Given the description of an element on the screen output the (x, y) to click on. 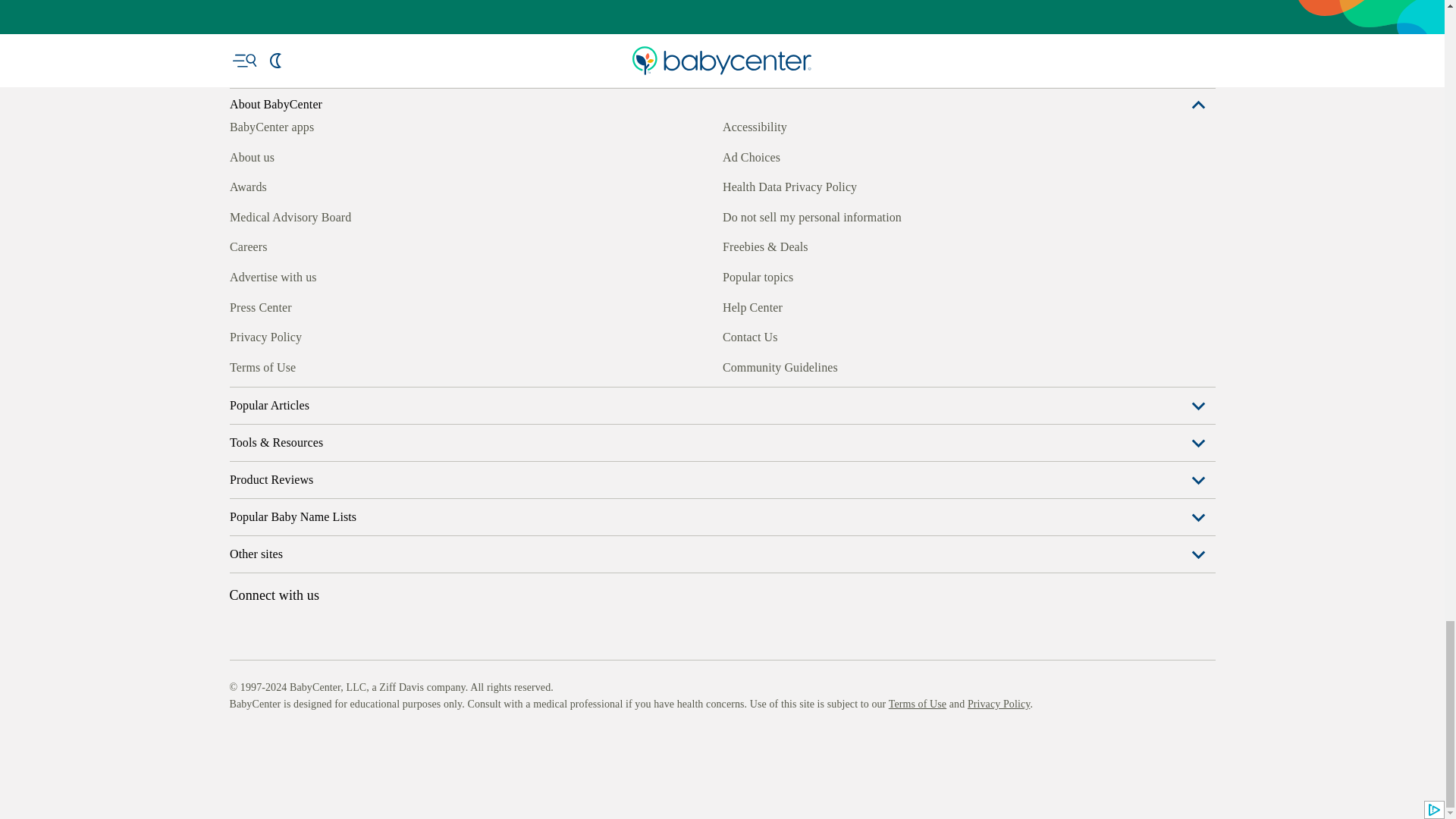
BabyCenter Facebook page (239, 364)
BabyCenter Pinterest board (309, 364)
BabyCenter Instagram feed (274, 364)
BabyCenter YouTube channel (344, 364)
BabyCenter Twitter feed (379, 364)
